Given the description of an element on the screen output the (x, y) to click on. 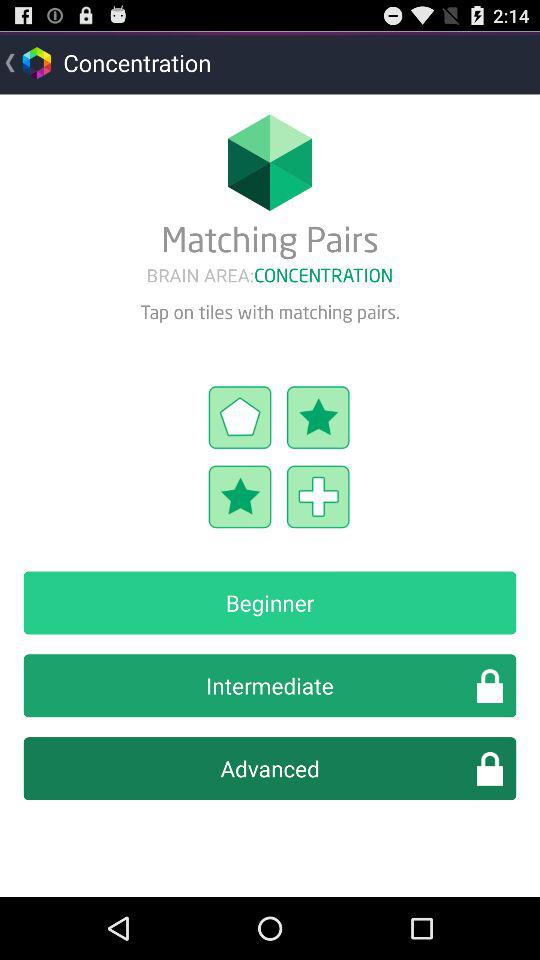
flip to the advanced item (269, 768)
